Given the description of an element on the screen output the (x, y) to click on. 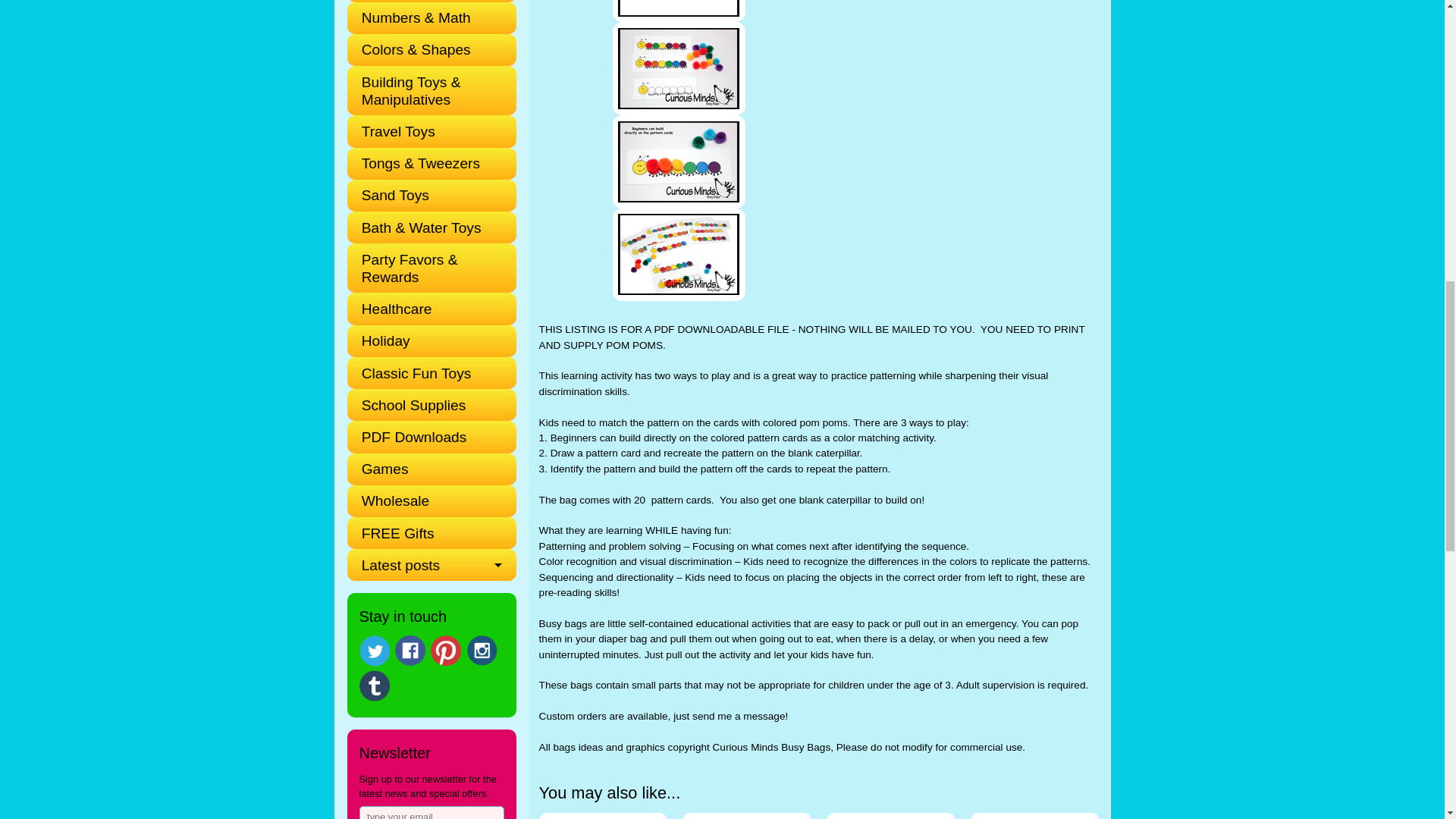
Pinterest (445, 650)
Twitter (374, 650)
Facebook (409, 650)
Instagram (482, 650)
Tumblr (374, 685)
PDF FILE - Pattern Caterpillar Cards Busy Bag (678, 161)
Sand Toys (424, 194)
PDF FILE - Pattern Caterpillar Cards Busy Bag (678, 255)
Travel Toys (424, 131)
PDF FILE - Pattern Caterpillar Cards Busy Bag (678, 68)
PDF FILE - Pattern Caterpillar Cards Busy Bag (678, 11)
